Given the description of an element on the screen output the (x, y) to click on. 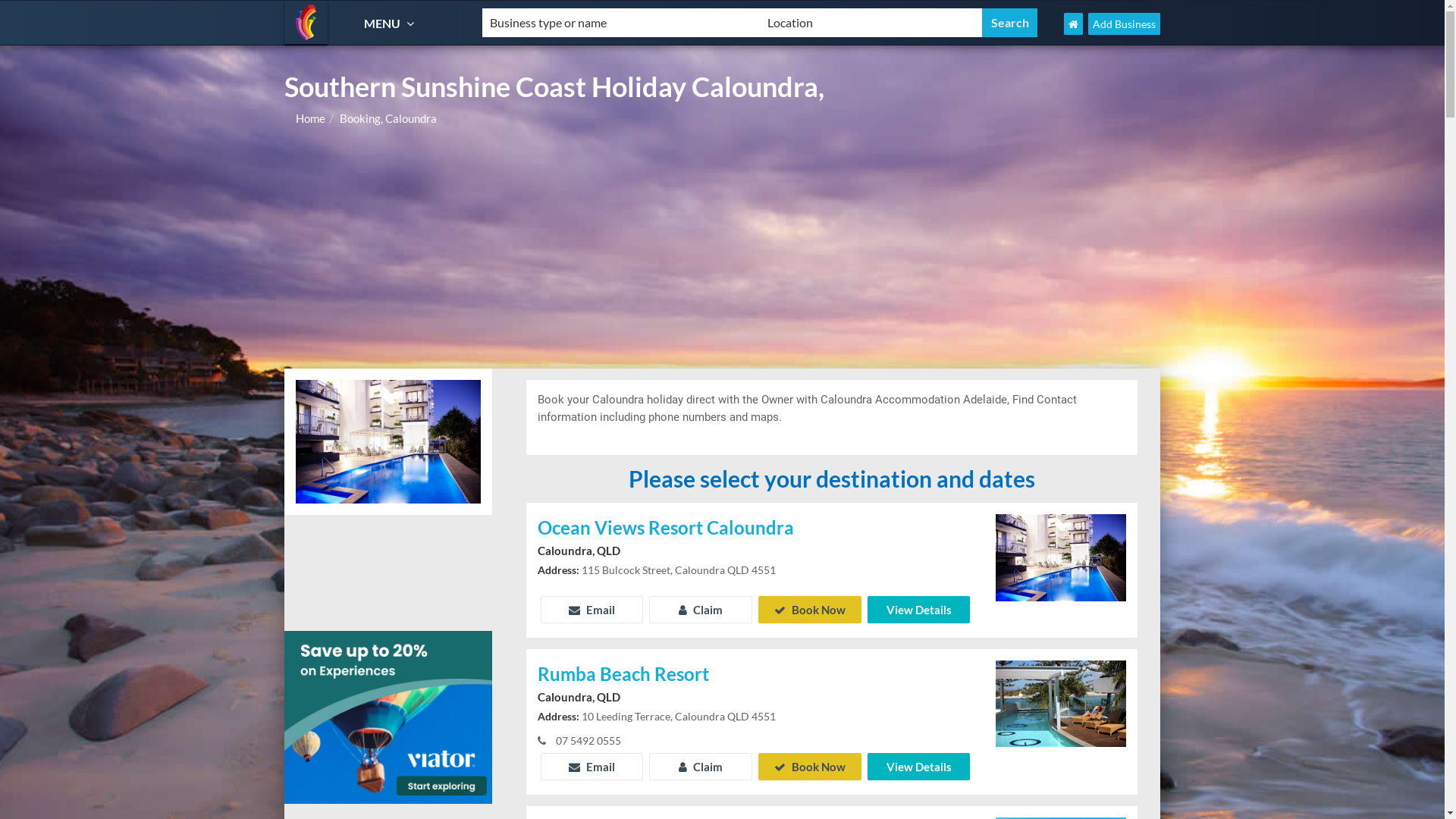
Search Element type: text (1009, 22)
Booking, Caloundra Element type: text (387, 118)
Email Element type: text (591, 766)
Ocean Views Resort Caloundra Element type: text (755, 528)
Claim Element type: text (700, 609)
MENU Element type: text (390, 22)
More info on Rumba Beach Resort Element type: hover (1060, 702)
Accommodation Adelaide Element type: hover (305, 21)
Advertisement Element type: hover (722, 254)
Add Business Element type: text (1124, 23)
Email Element type: text (591, 609)
Claim Element type: text (700, 766)
Book Now Element type: text (809, 766)
Accommodation Adelaide Home Page Element type: hover (1072, 23)
Home Element type: text (310, 118)
Rumba Beach Resort Element type: text (755, 675)
More info on Ocean Views Resort Caloundra Element type: hover (1060, 555)
View Details Element type: text (918, 766)
Book Now Element type: text (809, 609)
View Details Element type: text (918, 609)
